Given the description of an element on the screen output the (x, y) to click on. 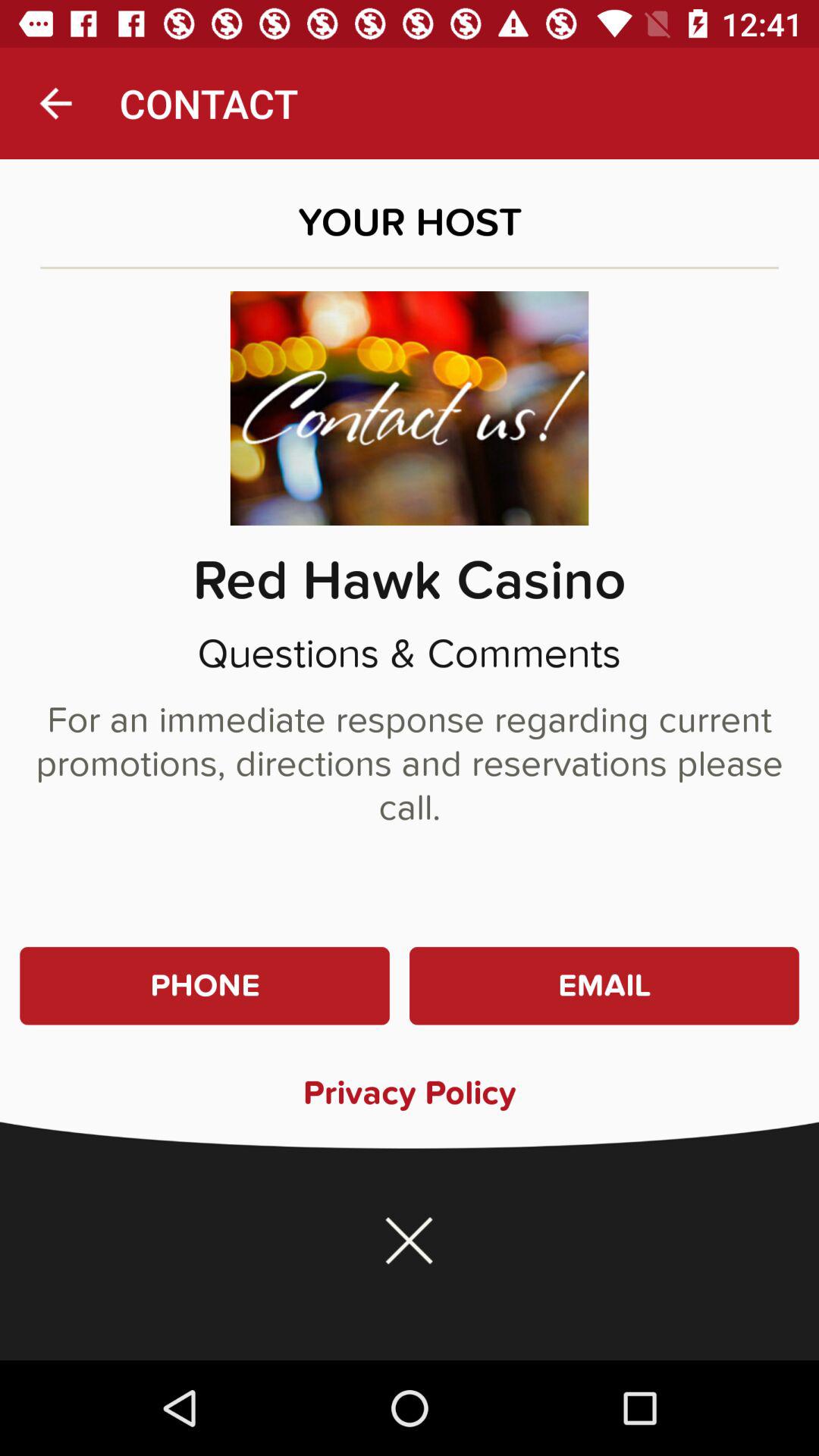
exit screen (409, 1240)
